Given the description of an element on the screen output the (x, y) to click on. 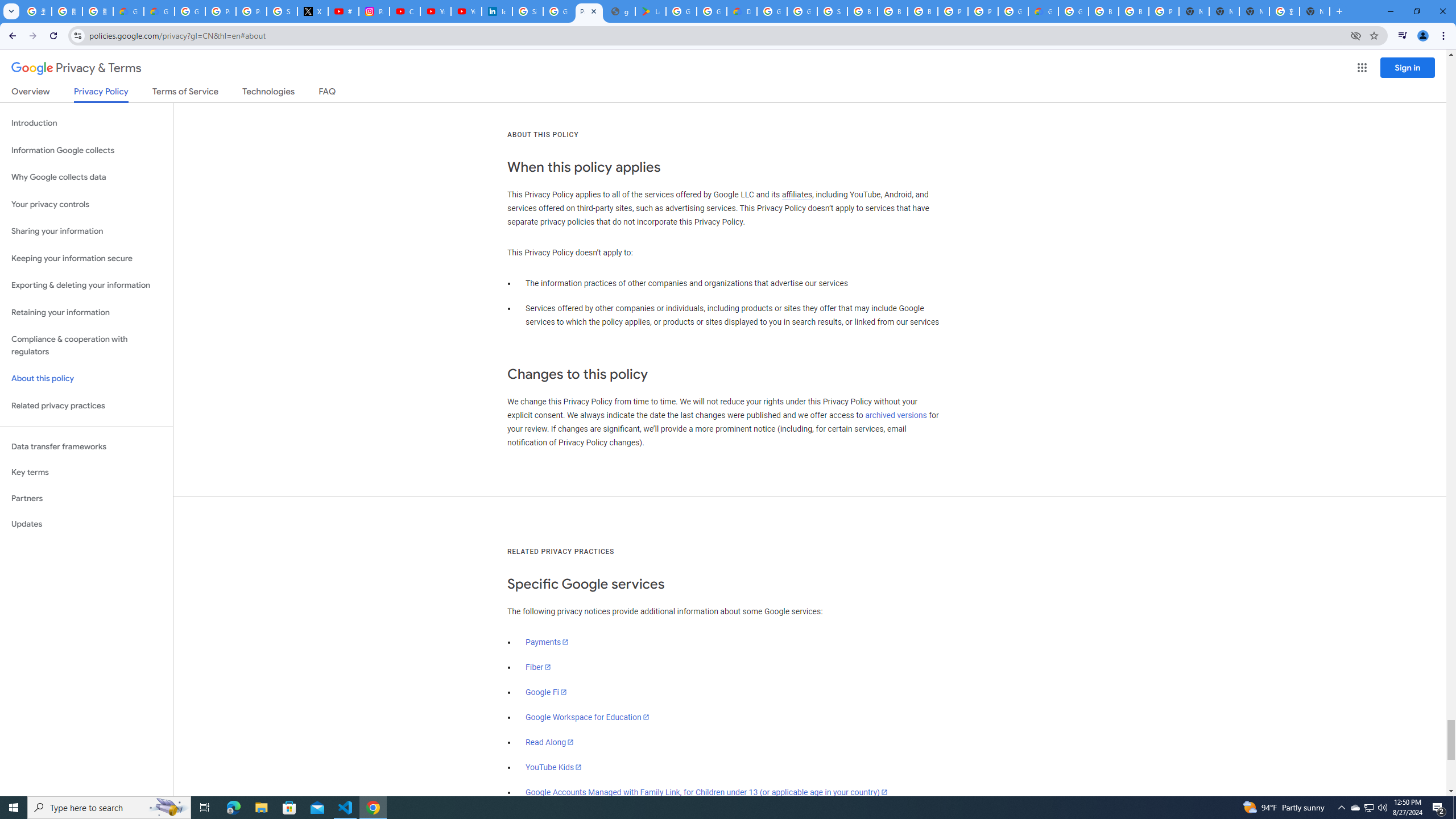
Privacy & Terms (76, 68)
Information Google collects (86, 150)
Exporting & deleting your information (86, 284)
About this policy (86, 379)
Terms of Service (184, 93)
archived versions (895, 415)
Google Workspace - Specific Terms (711, 11)
